Given the description of an element on the screen output the (x, y) to click on. 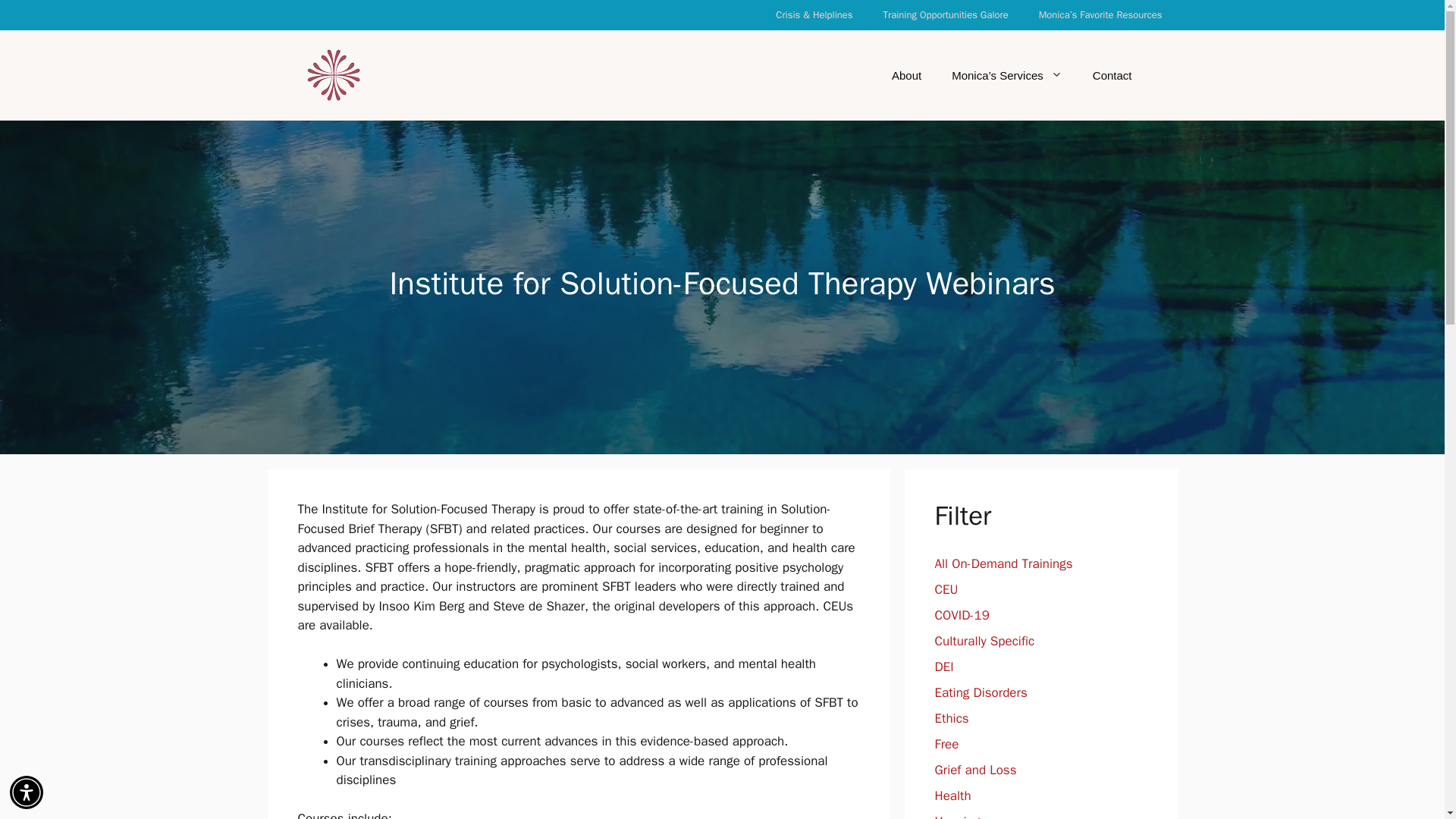
Grief and Loss (975, 770)
Eating Disorders (980, 692)
Health (952, 795)
Free (946, 744)
COVID-19 (961, 615)
Ethics (951, 718)
All On-Demand Trainings (1002, 563)
Culturally Specific (983, 641)
Contact (1112, 75)
CEU (946, 589)
